Given the description of an element on the screen output the (x, y) to click on. 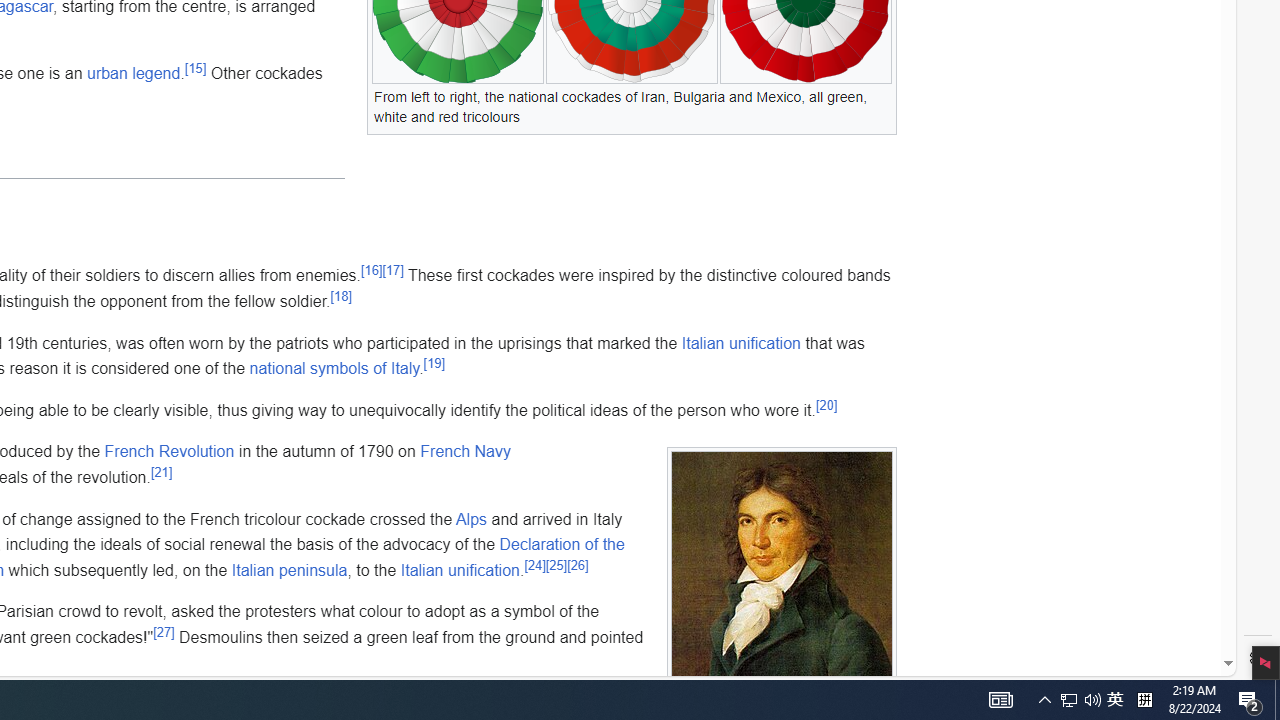
national symbols of Italy (334, 369)
[25] (556, 565)
French Revolution (169, 451)
Alps (470, 518)
